Given the description of an element on the screen output the (x, y) to click on. 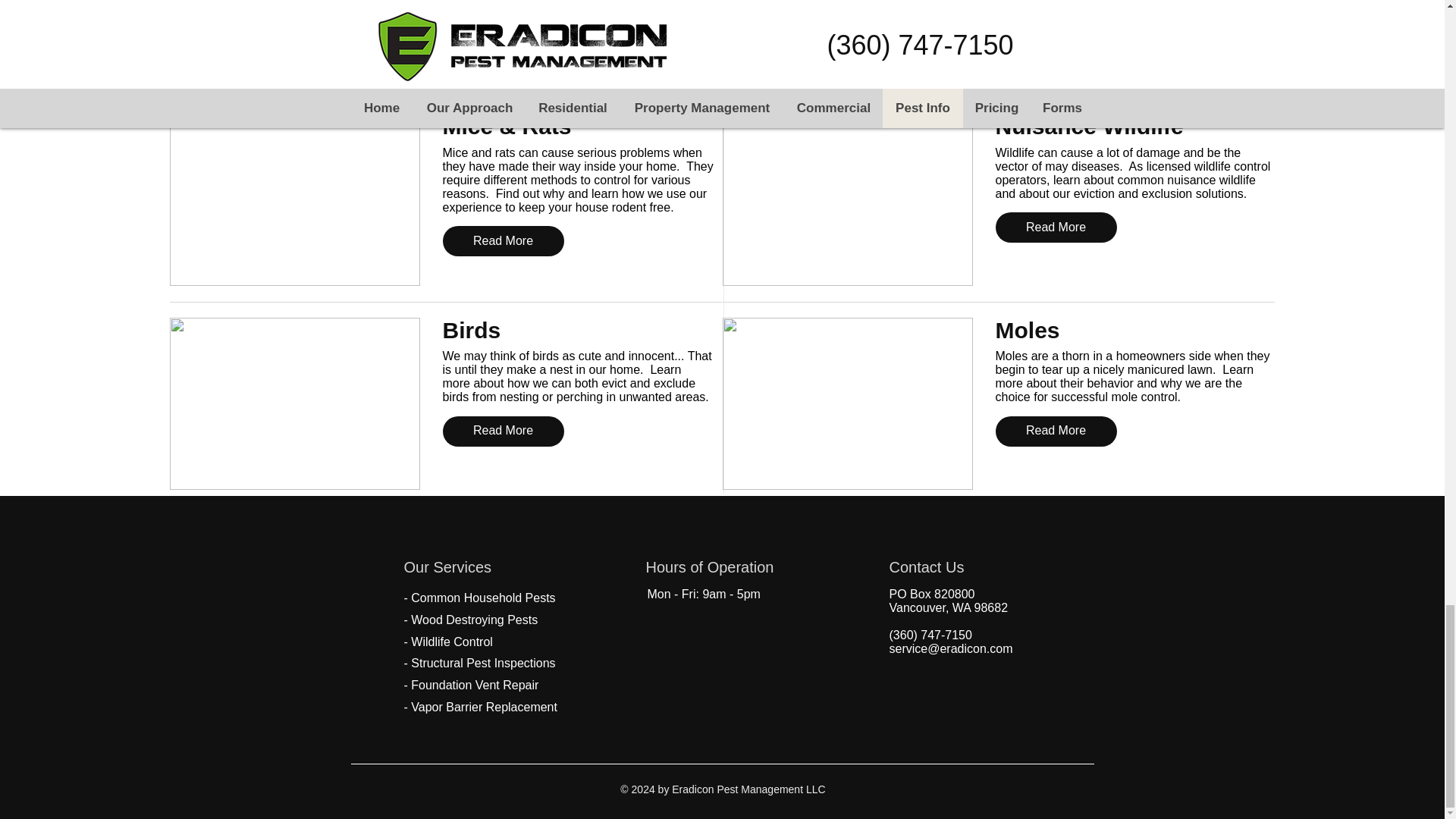
Starling (295, 403)
Read More (503, 23)
Pantry Pest (847, 40)
House Mouse (295, 199)
Flea (295, 40)
Squirrel (847, 199)
Mole (847, 403)
